Given the description of an element on the screen output the (x, y) to click on. 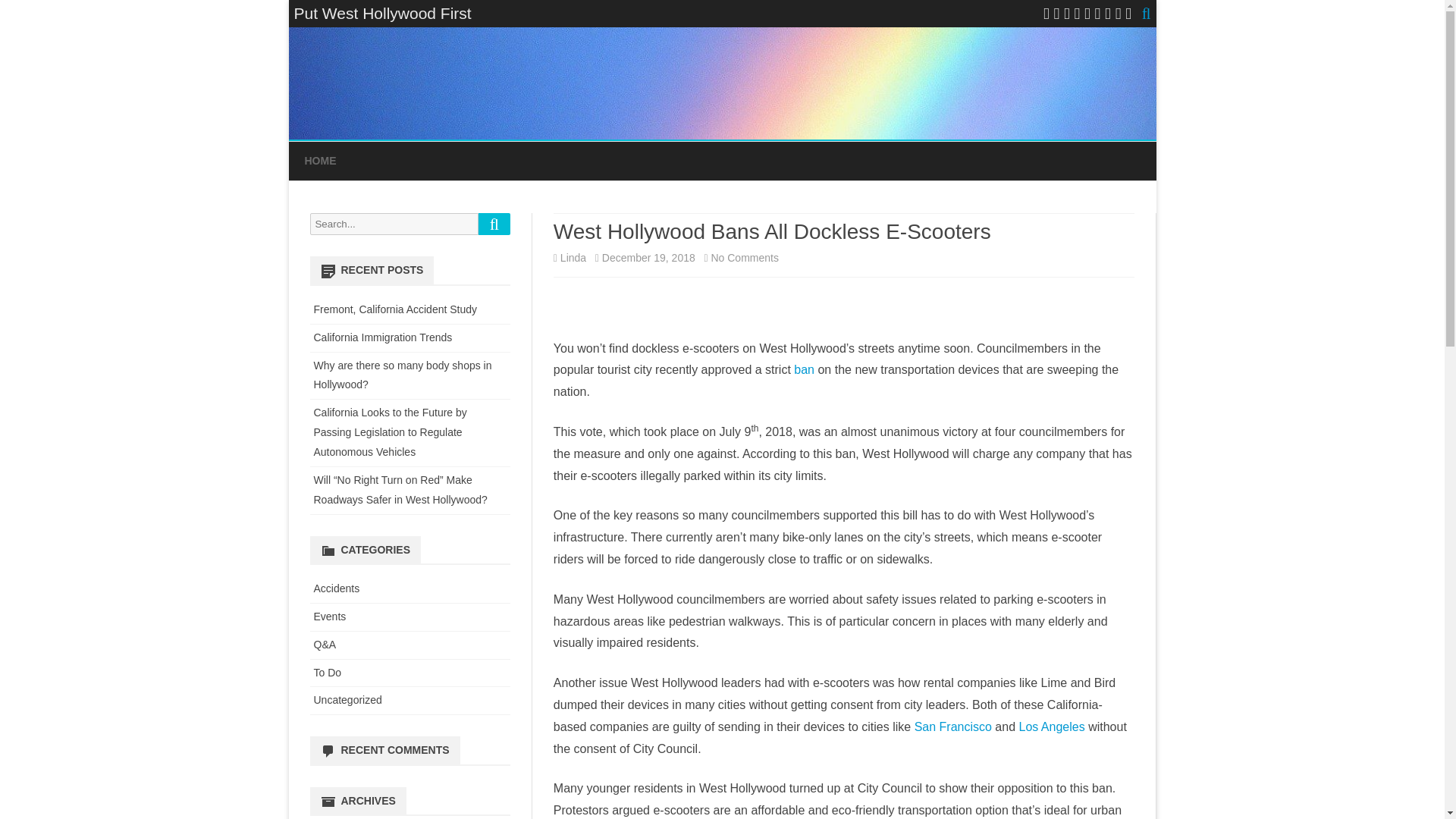
California Immigration Trends (383, 337)
Why are there so many body shops in Hollywood? (403, 375)
San Francisco (952, 726)
Search (495, 223)
Los Angeles (1051, 726)
Fremont, California Accident Study (395, 309)
Linda (573, 257)
